Given the description of an element on the screen output the (x, y) to click on. 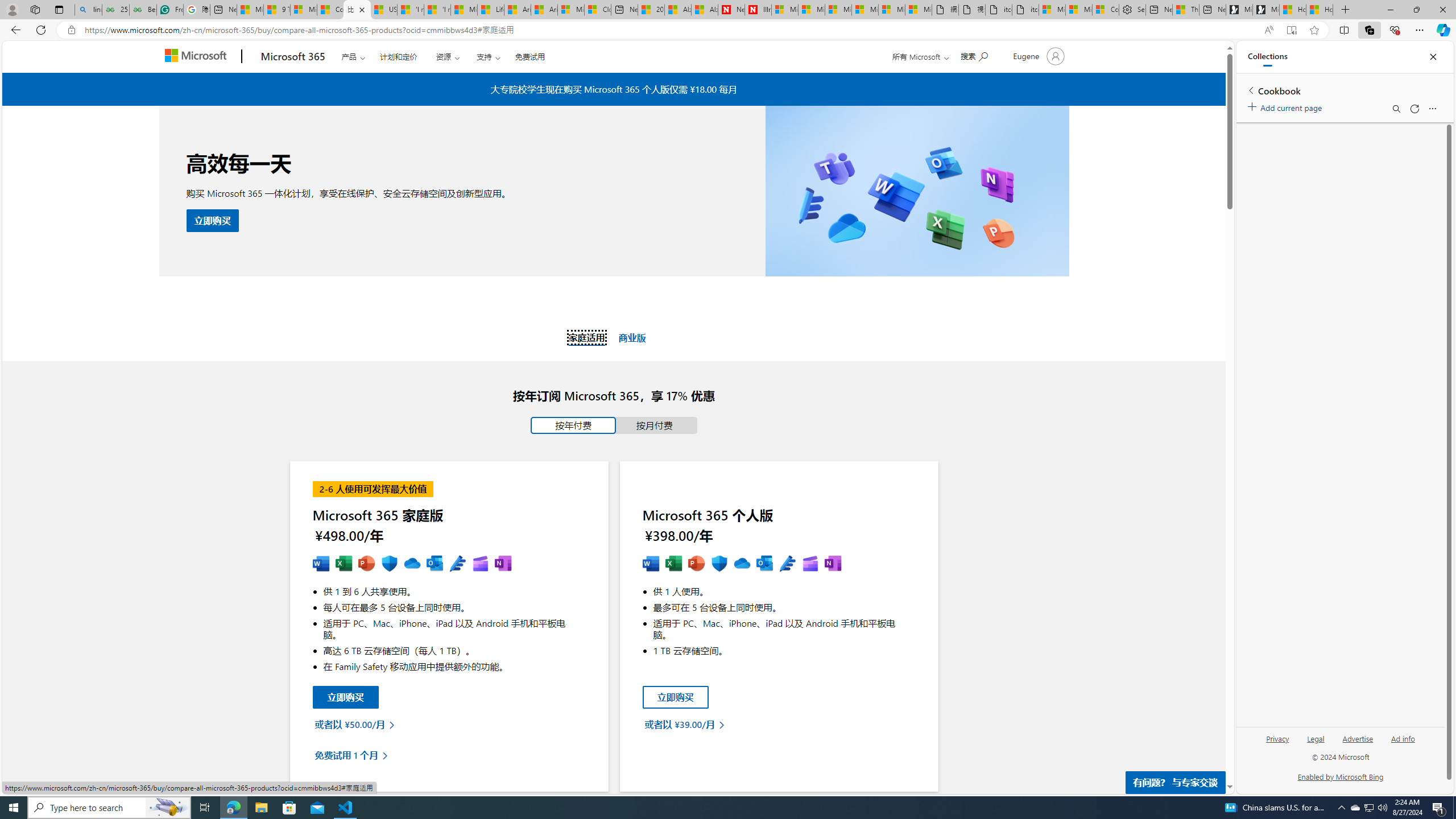
MS OneDrive (742, 563)
MS Powerpoint (366, 563)
20 Ways to Boost Your Protein Intake at Every Meal (651, 9)
MS Excel (673, 563)
Free AI Writing Assistance for Students | Grammarly (169, 9)
USA TODAY - MSN (383, 9)
